Given the description of an element on the screen output the (x, y) to click on. 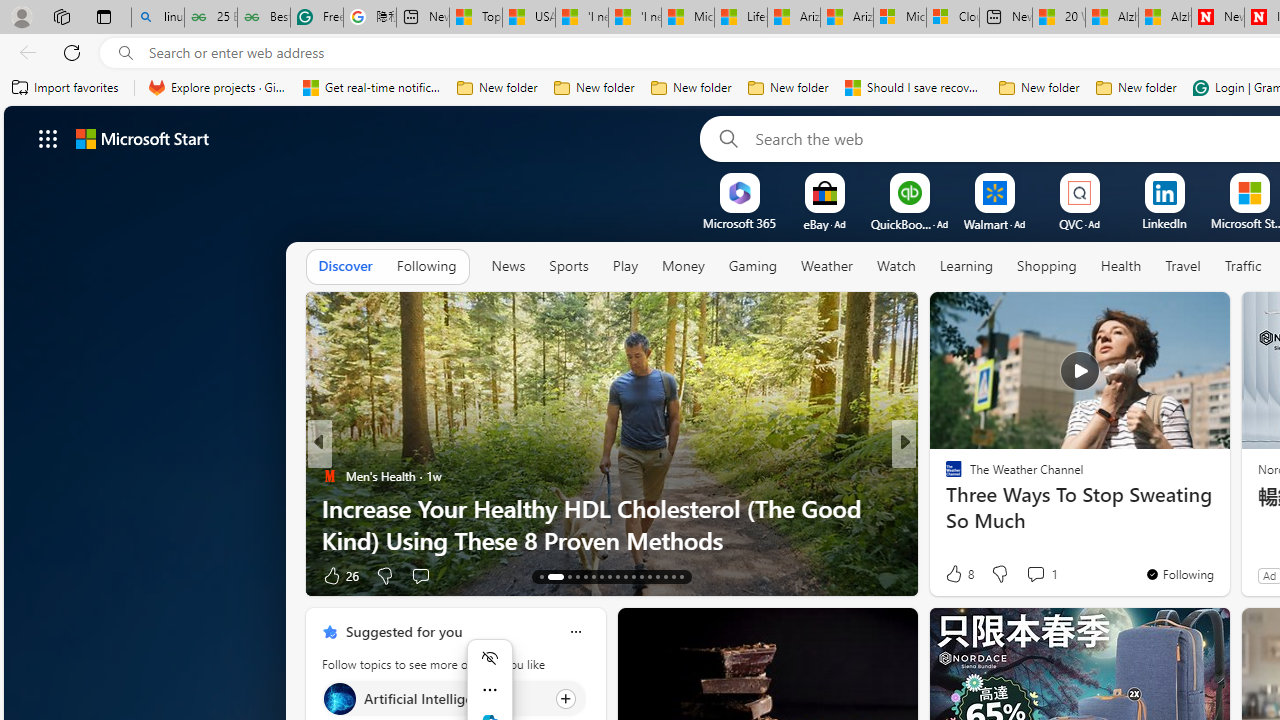
Cheapism (944, 507)
127 Like (959, 574)
New folder (1136, 88)
View comments 12 Comment (1042, 575)
86 Like (956, 574)
AutomationID: tab-28 (673, 576)
INSIDER (944, 475)
AutomationID: tab-22 (624, 576)
AutomationID: tab-14 (555, 576)
